Given the description of an element on the screen output the (x, y) to click on. 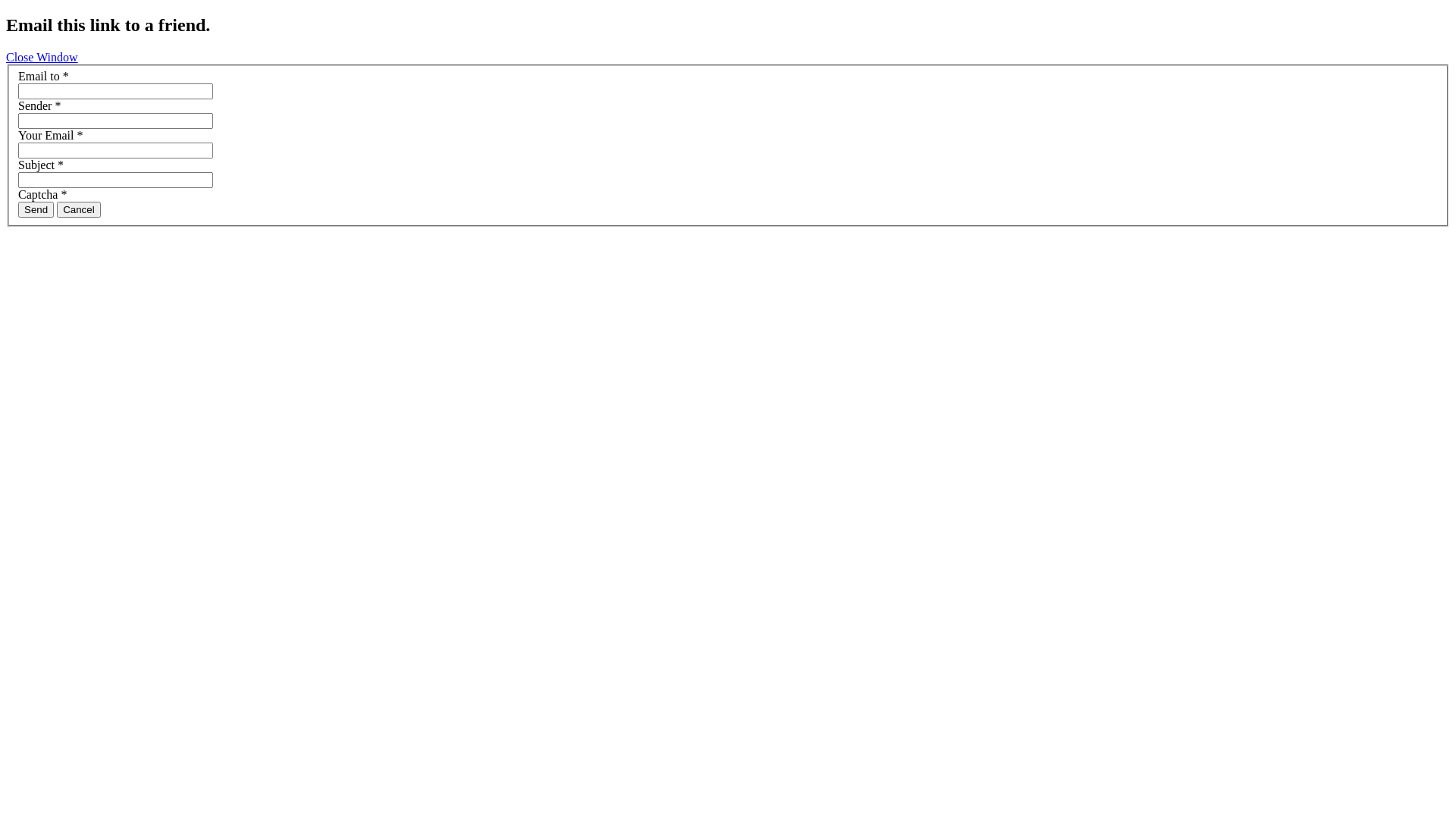
Cancel Element type: text (78, 209)
Send Element type: text (35, 209)
Close Window Element type: text (42, 56)
